Given the description of an element on the screen output the (x, y) to click on. 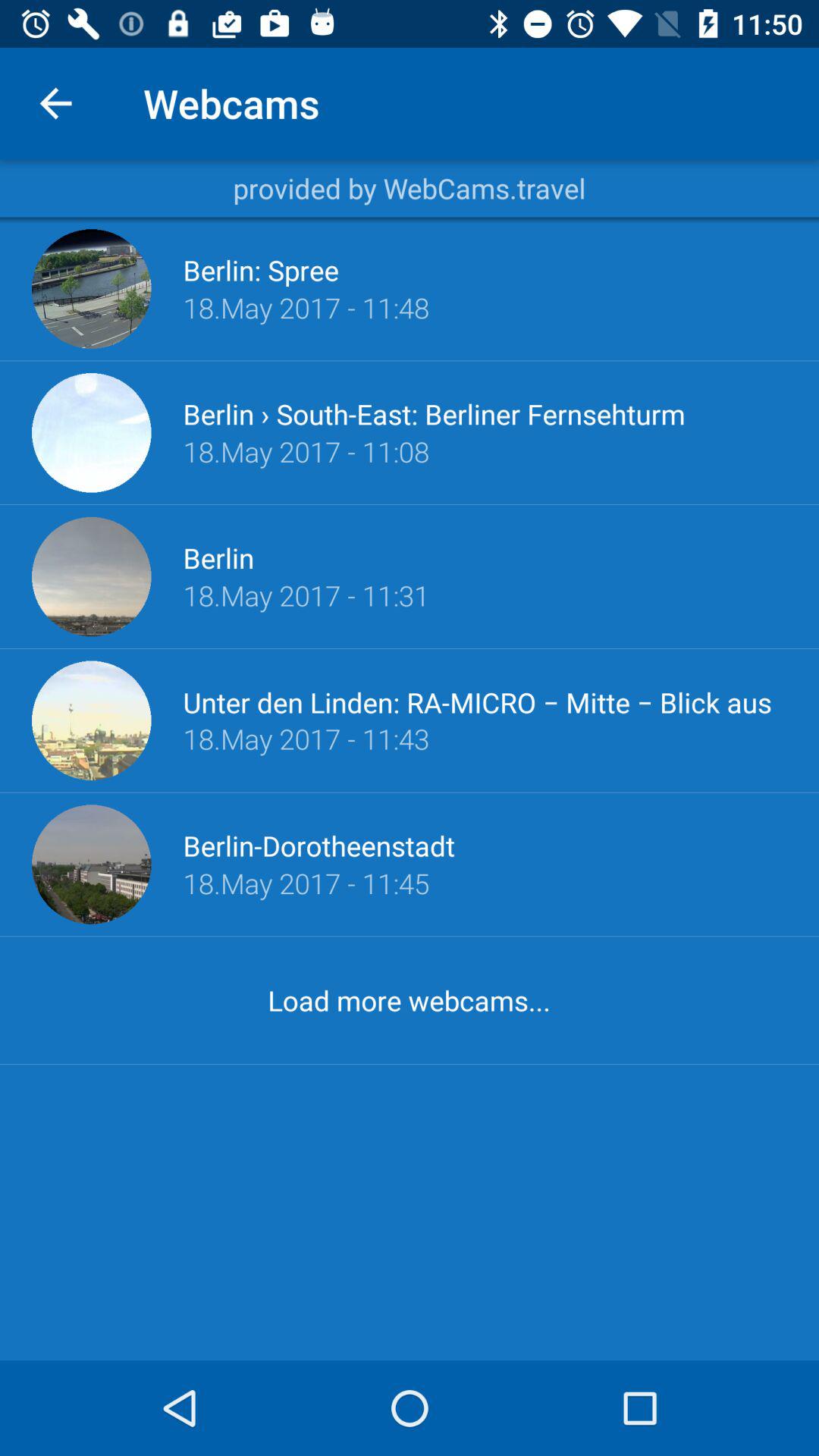
open the item to the left of webcams item (55, 103)
